Given the description of an element on the screen output the (x, y) to click on. 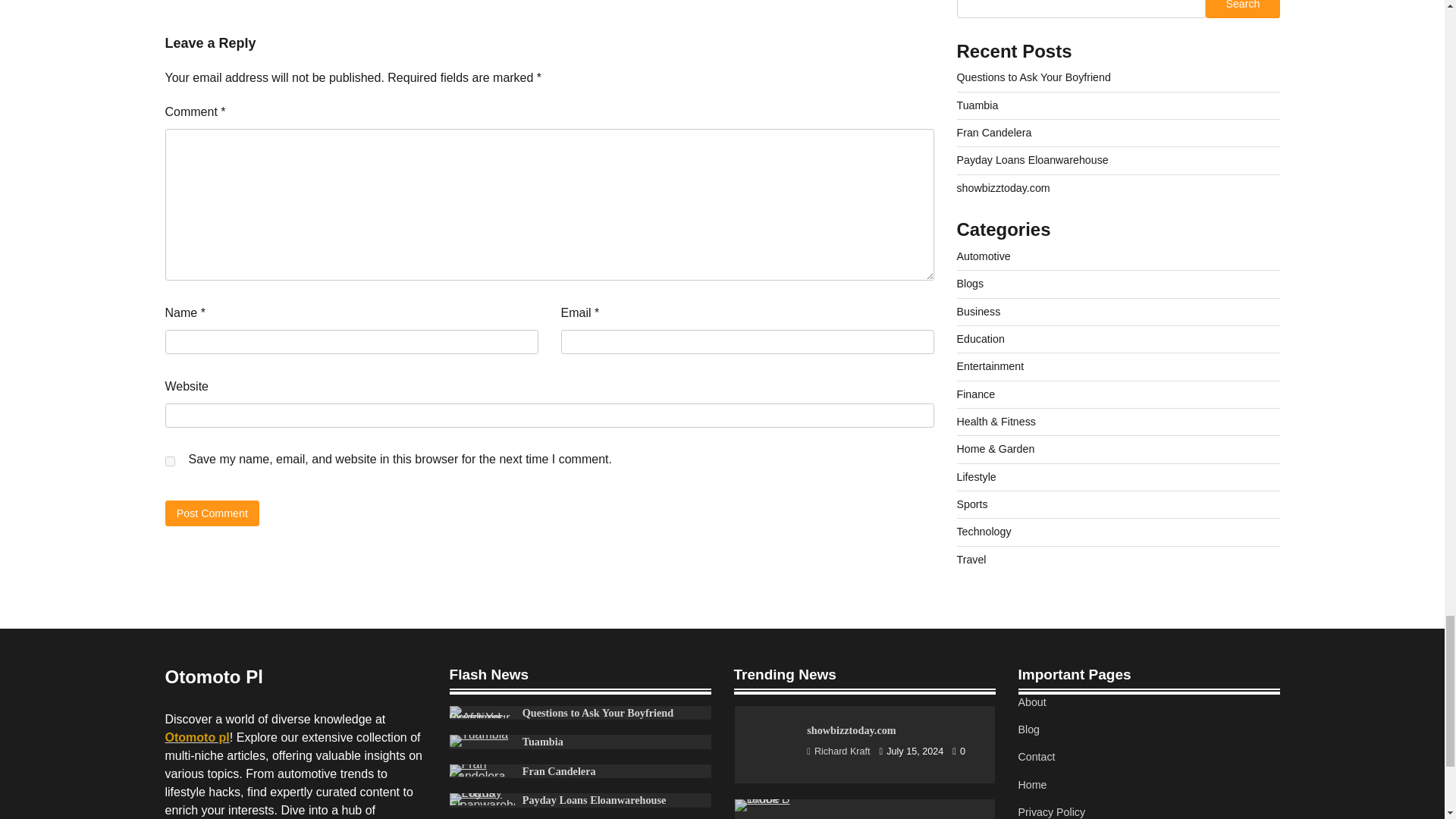
Post Comment (212, 512)
Post Comment (212, 512)
yes (169, 461)
